Given the description of an element on the screen output the (x, y) to click on. 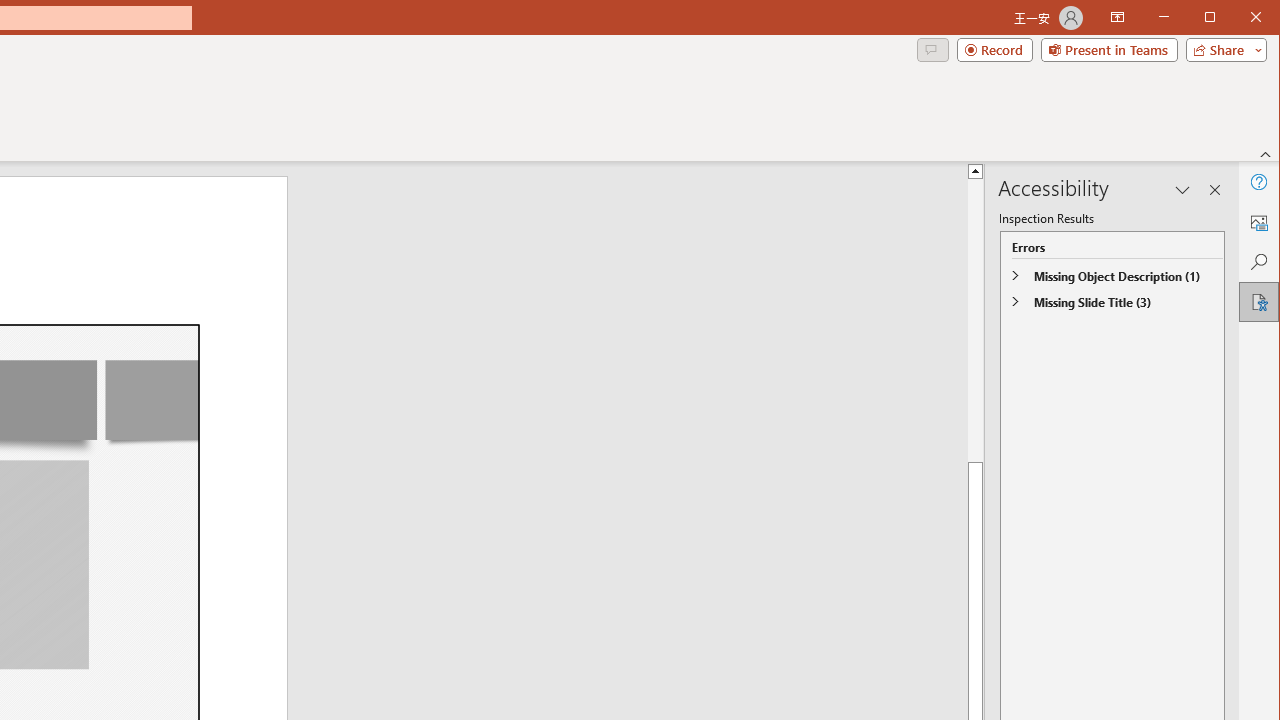
Maximize (1238, 18)
